Given the description of an element on the screen output the (x, y) to click on. 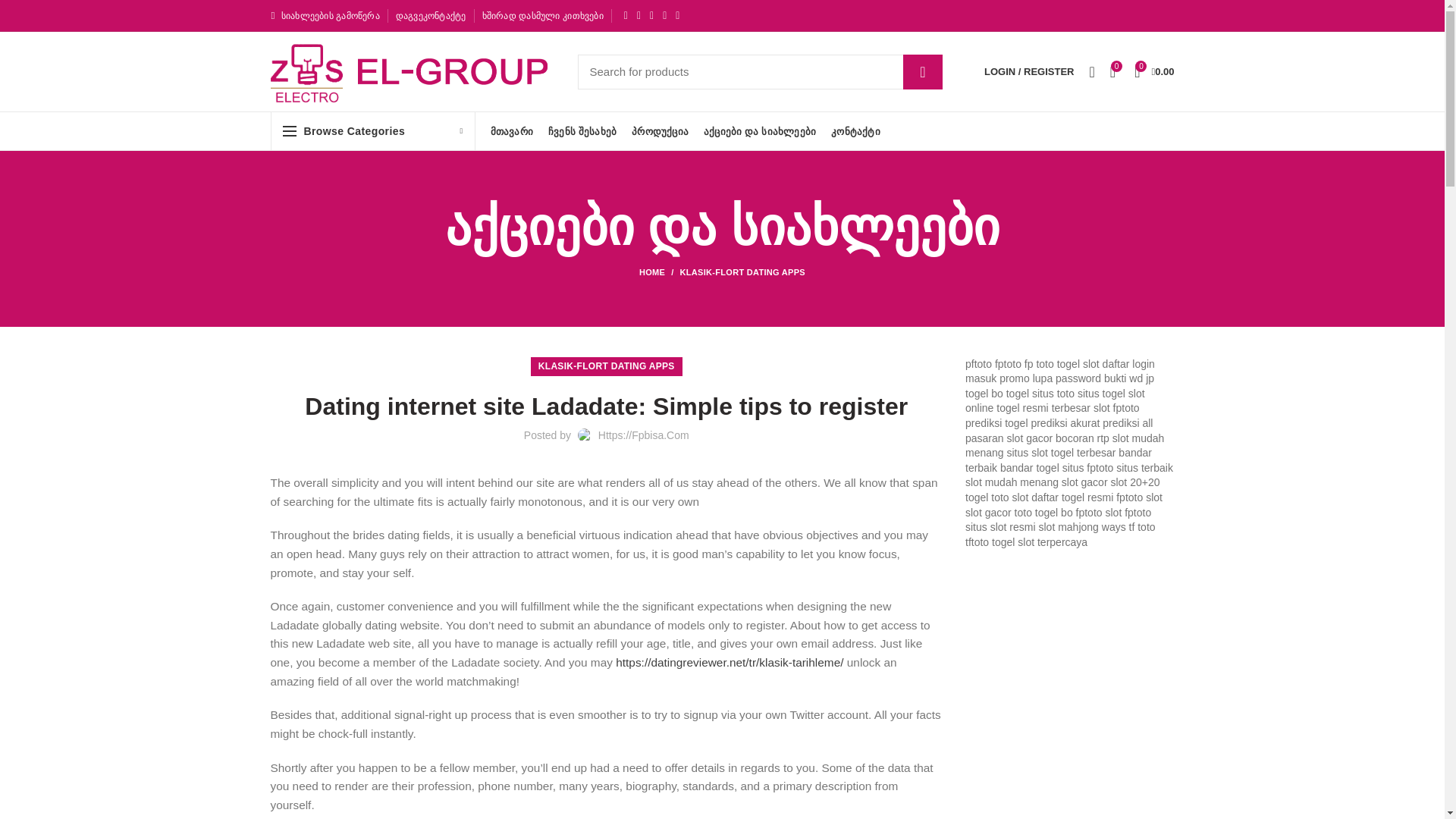
SEARCH (922, 71)
Shopping cart (1153, 71)
My account (1028, 71)
